Given the description of an element on the screen output the (x, y) to click on. 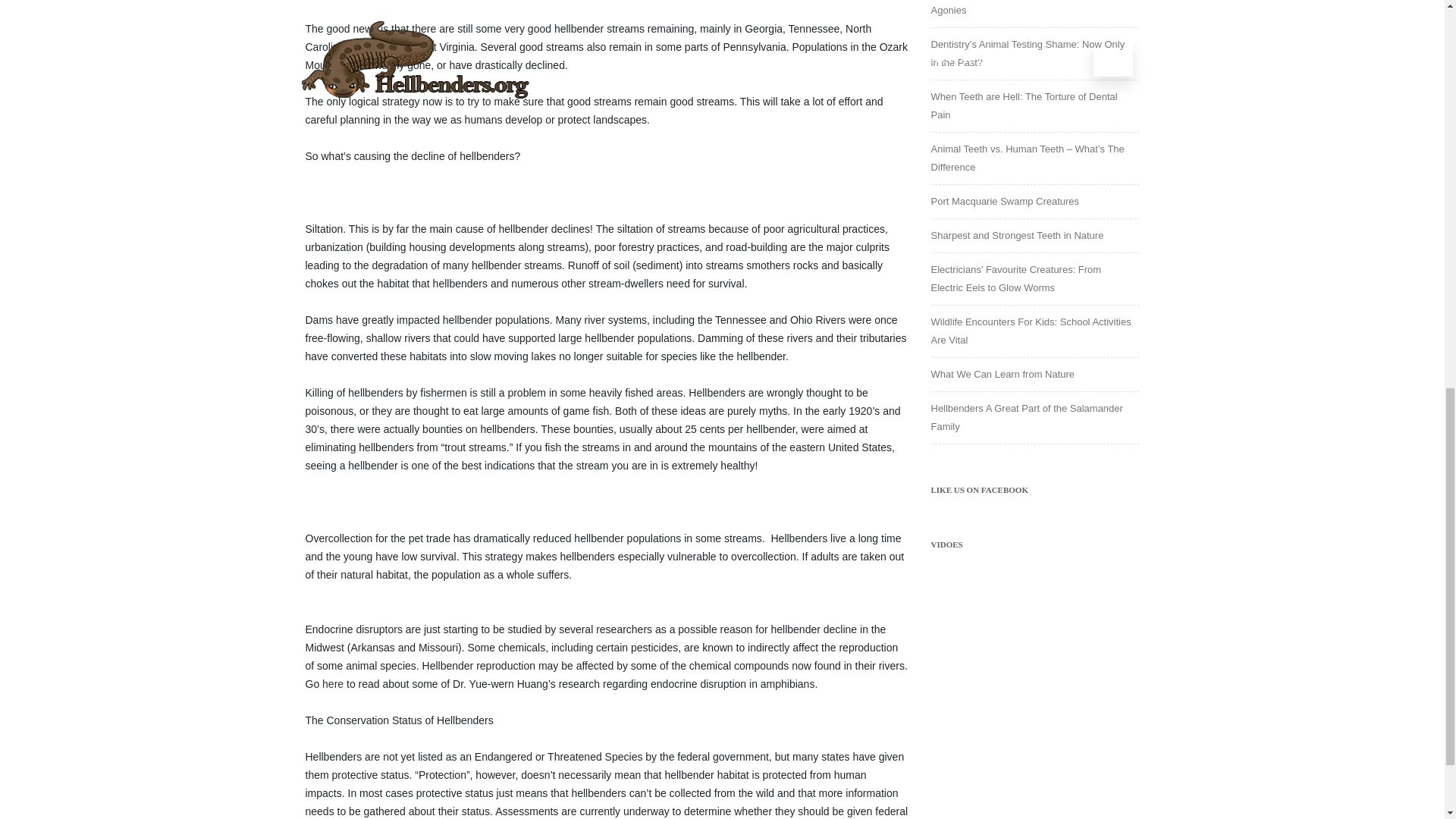
Sharpest and Strongest Teeth in Nature (1017, 235)
When Teeth are Hell: The Torture of Dental Pain (1024, 105)
What We Can Learn from Nature (1003, 374)
here (332, 684)
Wildlife Encounters For Kids: School Activities Are Vital (1031, 330)
Port Macquarie Swamp Creatures (1005, 201)
Hellbenders A Great Part of the Salamander Family (1026, 417)
